Given the description of an element on the screen output the (x, y) to click on. 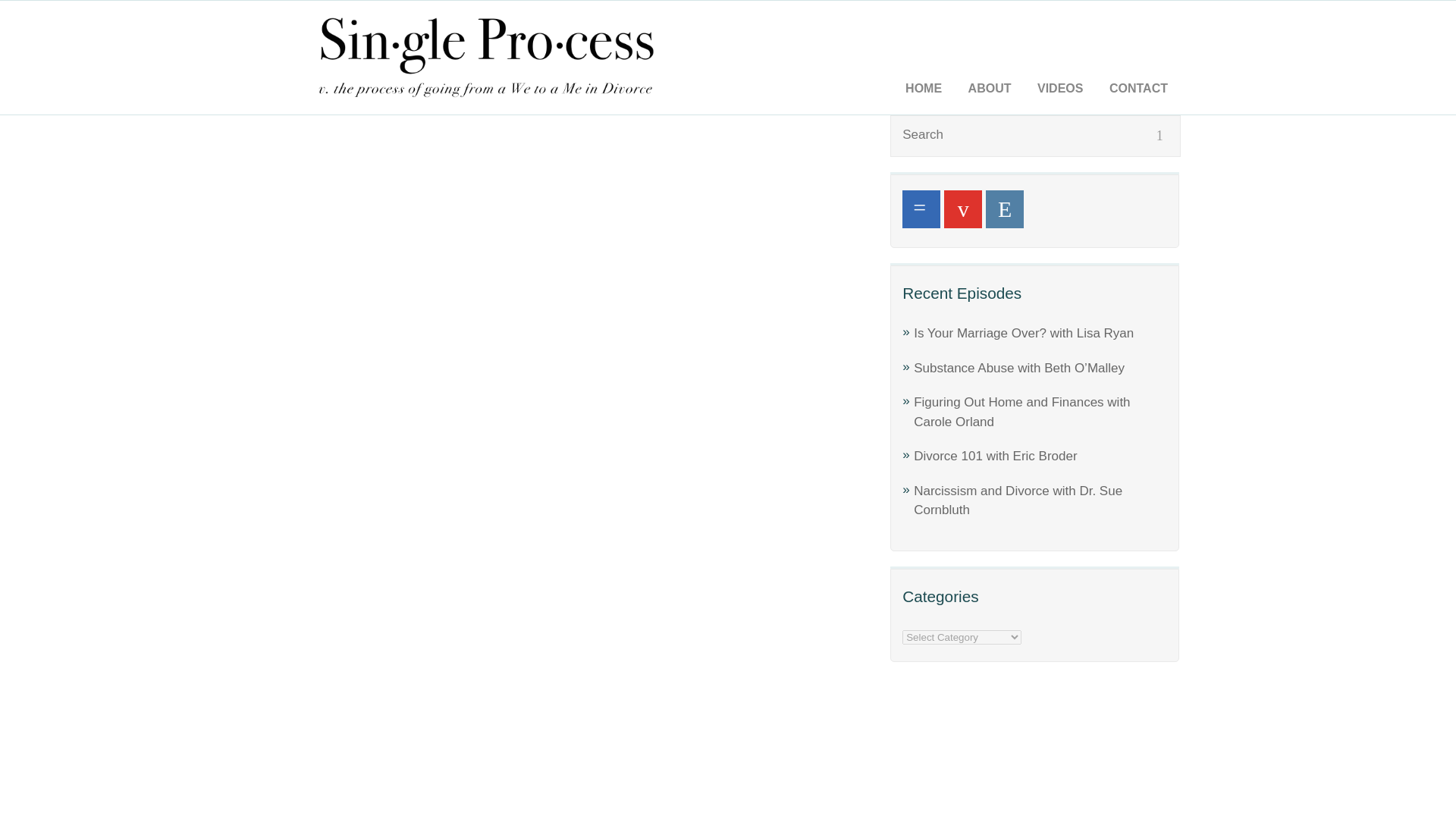
Divorce 101 with Eric Broder (995, 455)
HOME (923, 88)
Is Your Marriage Over? with Lisa Ryan (1024, 332)
VIDEOS (1059, 88)
Figuring Out Home and Finances with Carole Orland (1021, 411)
CONTACT (1138, 88)
Narcissism and Divorce with Dr. Sue Cornbluth (1018, 500)
ABOUT (989, 88)
